Given the description of an element on the screen output the (x, y) to click on. 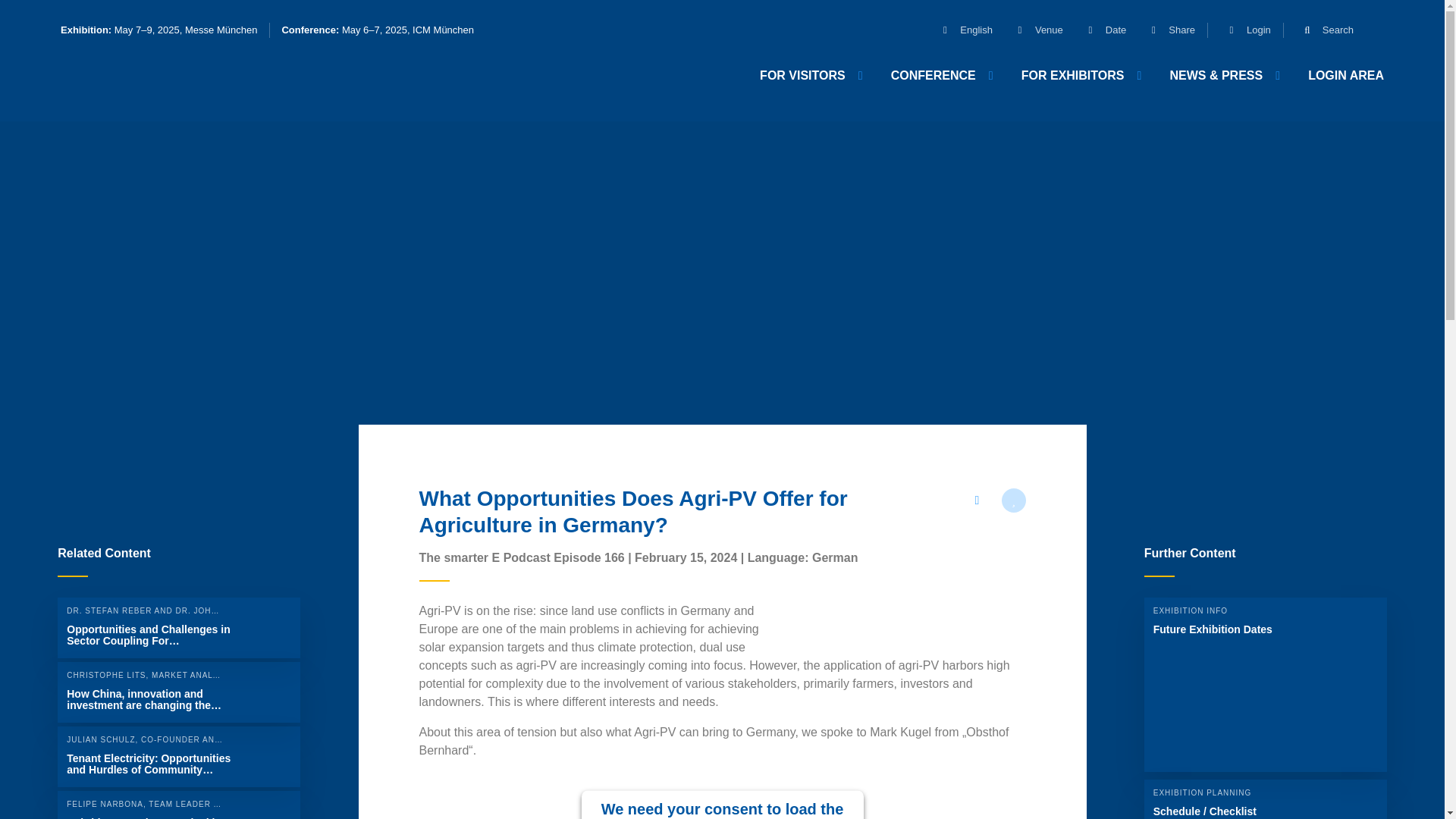
Share (1166, 30)
English (961, 30)
Search (1323, 30)
Venue (1033, 30)
Change Language (961, 30)
Date (1100, 30)
CONFERENCE (941, 75)
Login (1243, 30)
Share this page (975, 500)
Date (1100, 30)
Venue (1033, 30)
Login (1243, 30)
FOR VISITORS (810, 75)
Share (1166, 30)
Search (1323, 30)
